Given the description of an element on the screen output the (x, y) to click on. 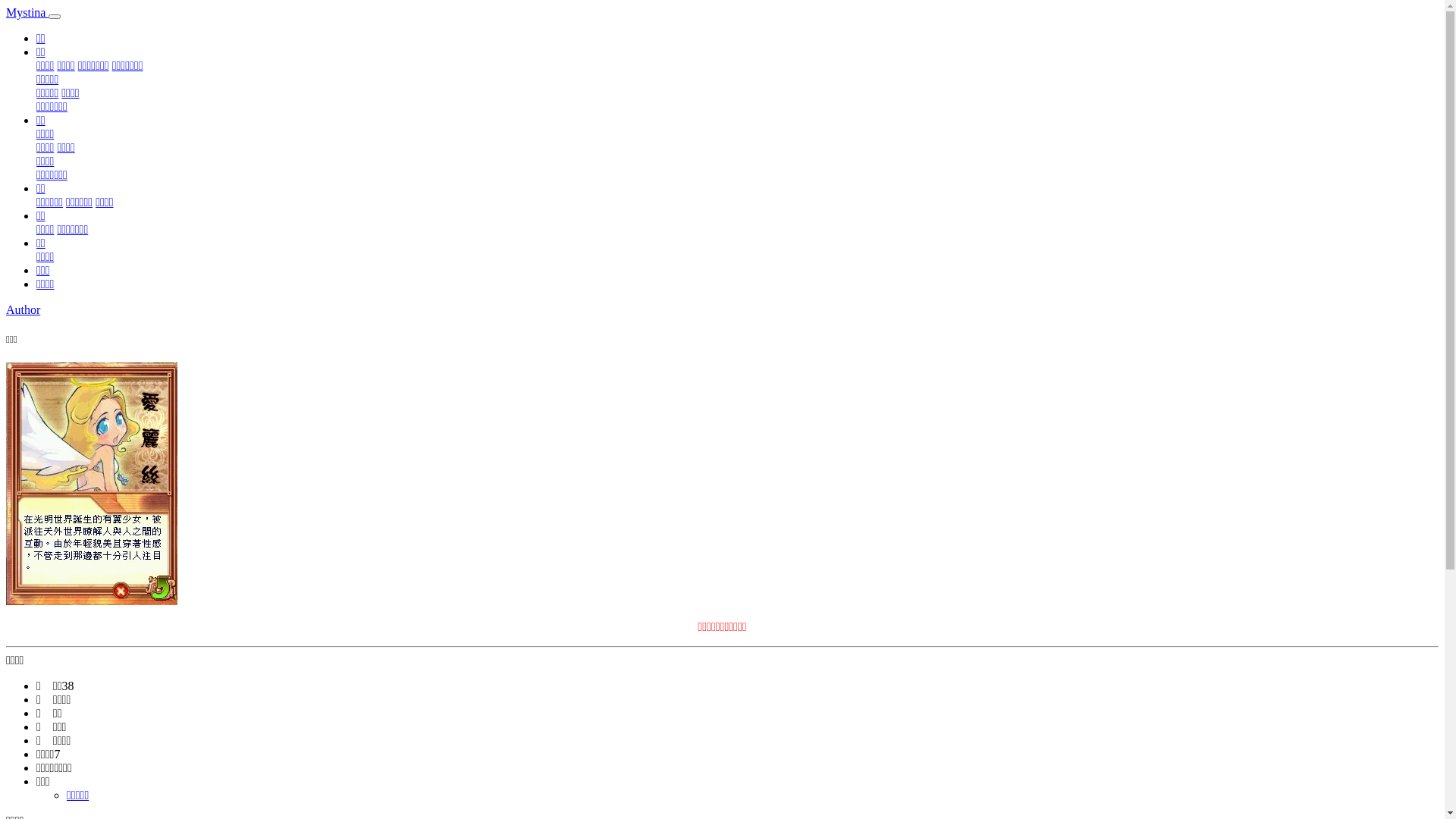
Author Element type: text (23, 309)
Mystina Element type: text (27, 12)
